Given the description of an element on the screen output the (x, y) to click on. 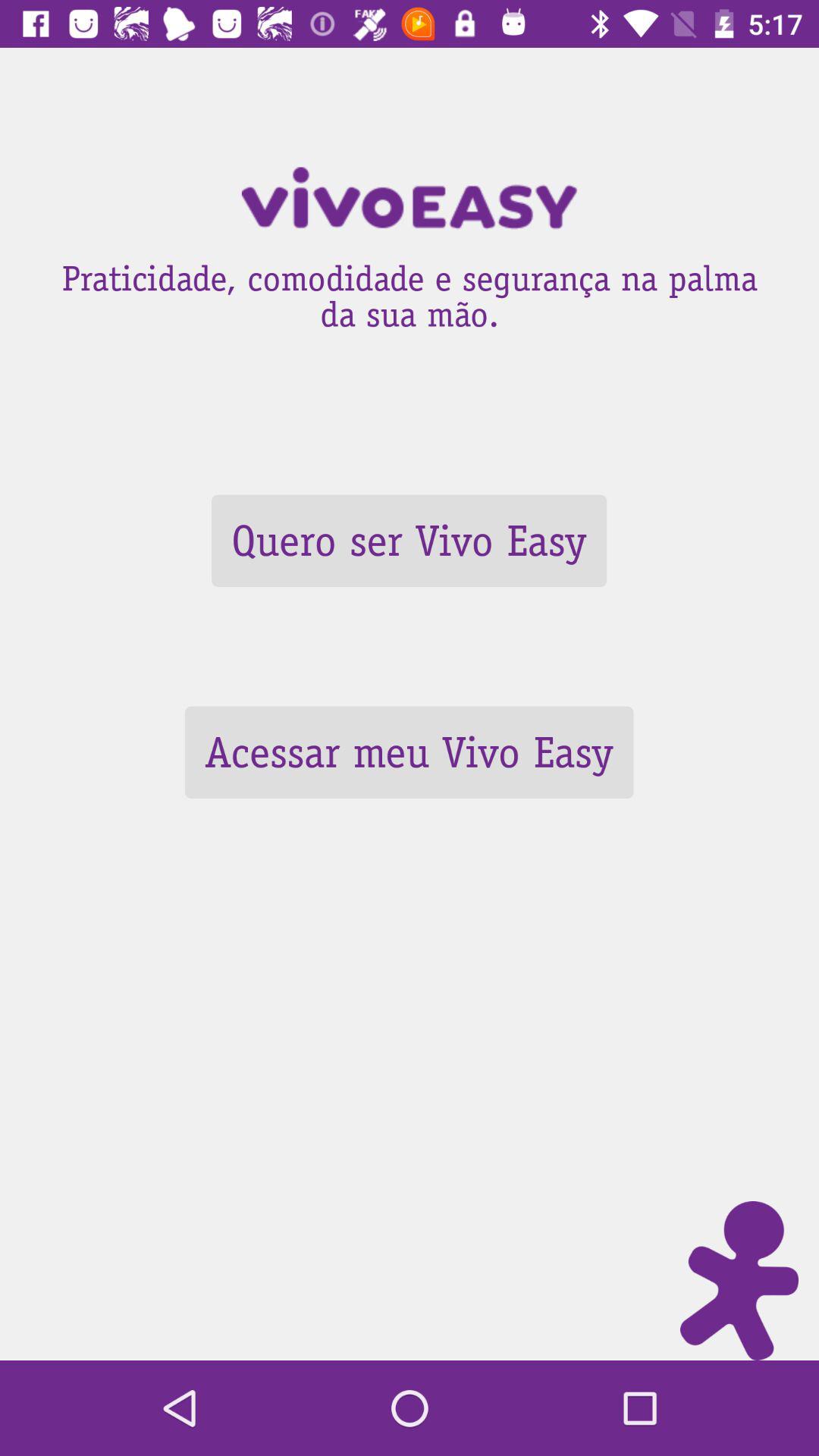
scroll until the quero ser vivo (408, 540)
